Given the description of an element on the screen output the (x, y) to click on. 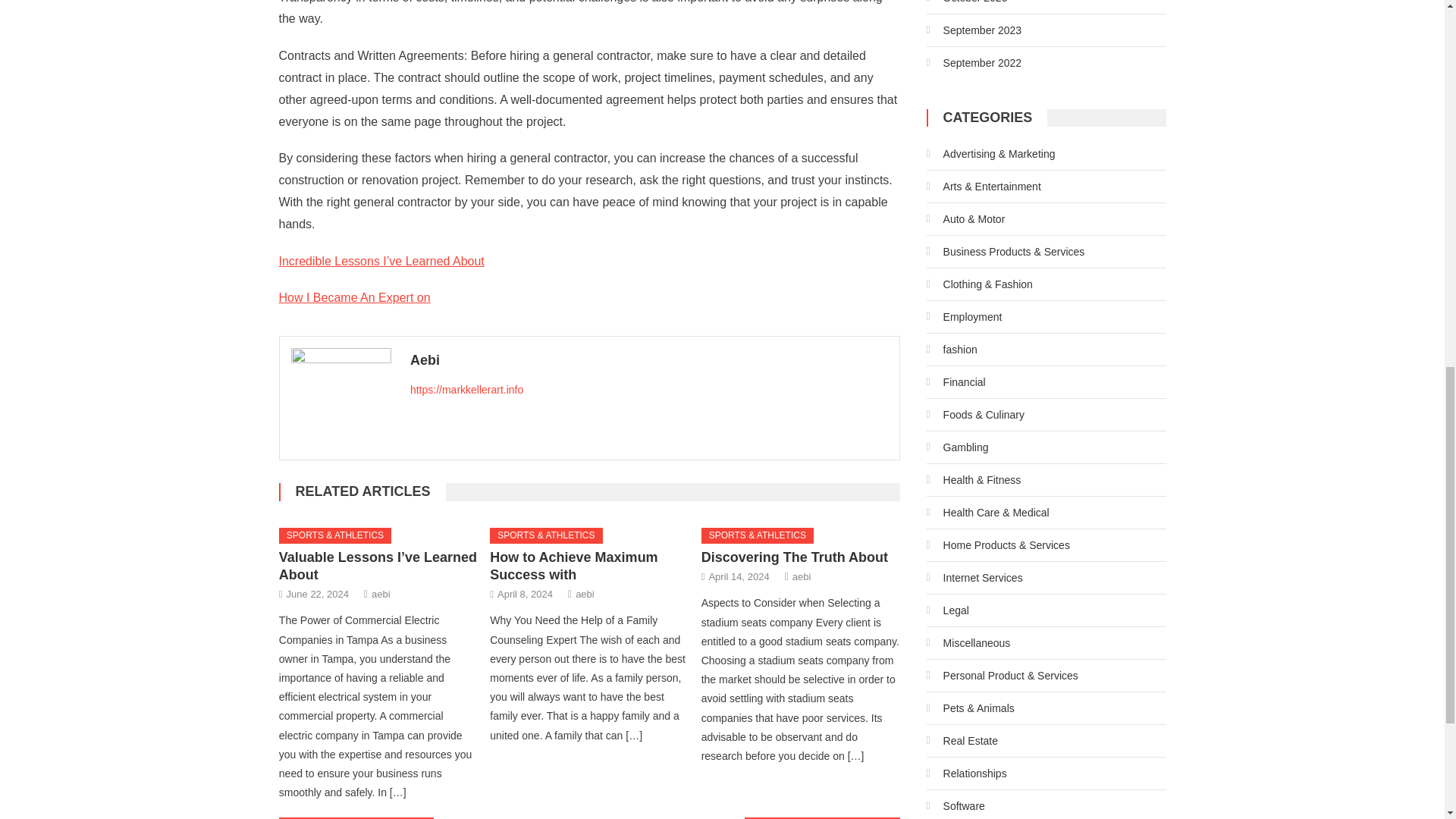
aebi (380, 593)
April 14, 2024 (737, 576)
aebi (801, 576)
How I Became An Expert on (354, 297)
Aebi (649, 360)
Discovering The Truth About (794, 557)
aebi (584, 593)
June 22, 2024 (317, 593)
